Given the description of an element on the screen output the (x, y) to click on. 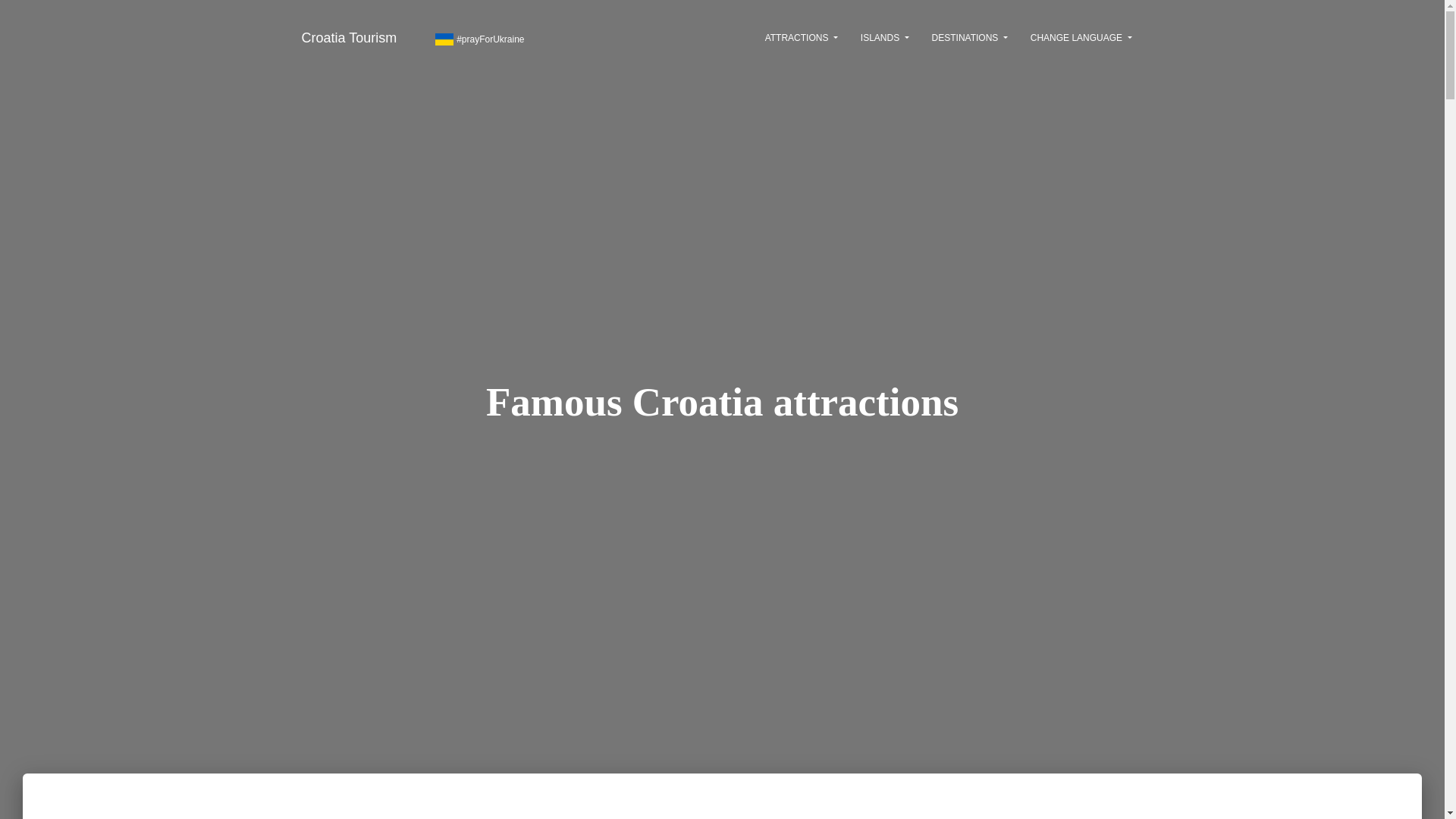
ATTRACTIONS (801, 37)
Croatia Tourism (349, 37)
DESTINATIONS (969, 37)
ISLANDS (884, 37)
CHANGE LANGUAGE (1080, 37)
